Given the description of an element on the screen output the (x, y) to click on. 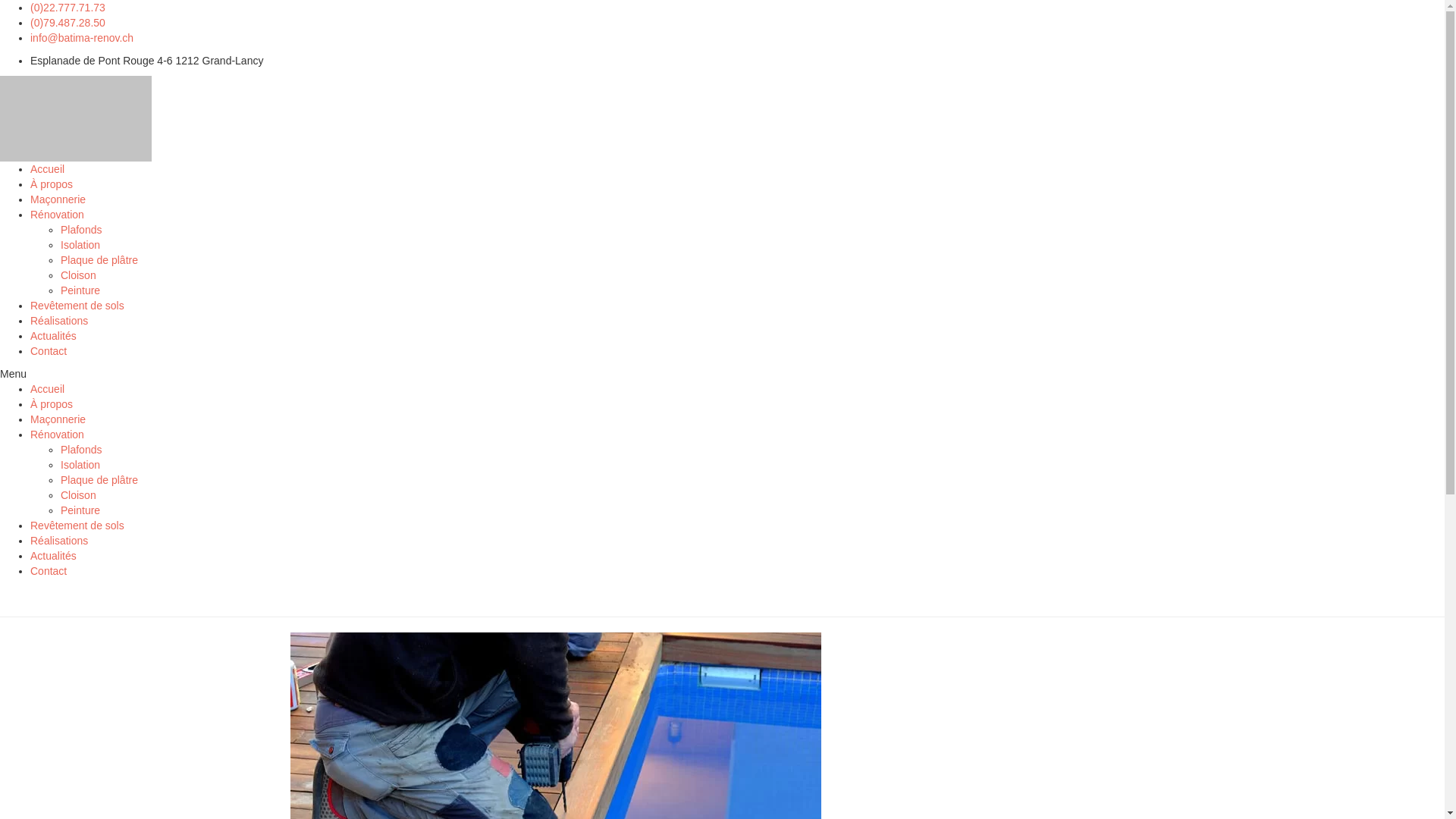
(0)22.777.71.73 Element type: text (67, 7)
Contact Element type: text (48, 351)
Cloison Element type: text (78, 495)
Plafonds Element type: text (80, 449)
Cloison Element type: text (78, 275)
info@batima-renov.ch Element type: text (81, 37)
Isolation Element type: text (80, 464)
Peinture Element type: text (80, 510)
Plafonds Element type: text (80, 229)
Accueil Element type: text (47, 169)
Contact Element type: text (48, 570)
Peinture Element type: text (80, 290)
(0)79.487.28.50 Element type: text (67, 22)
Isolation Element type: text (80, 244)
Accueil Element type: text (47, 388)
